Given the description of an element on the screen output the (x, y) to click on. 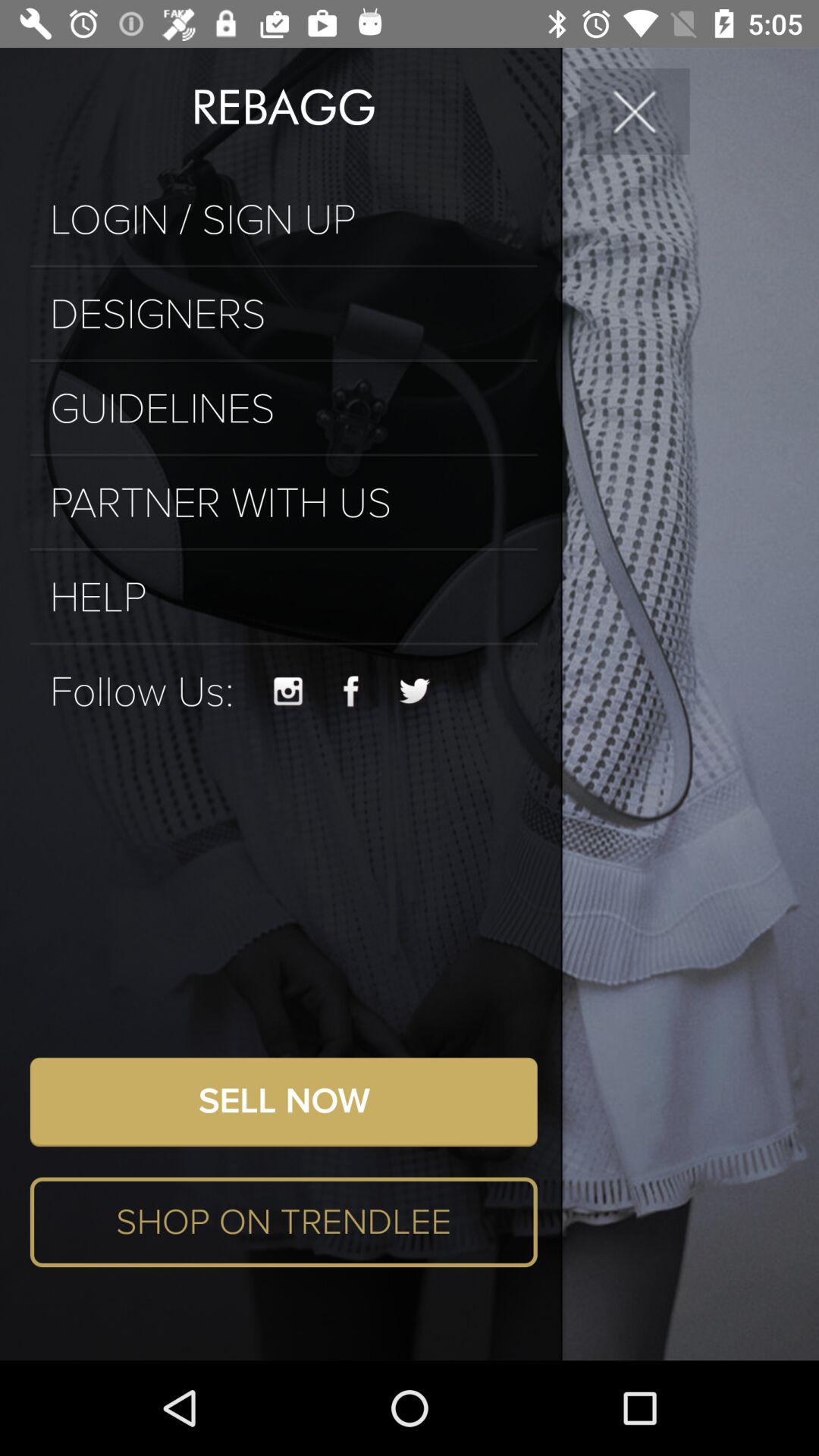
flip to guidelines item (283, 408)
